Given the description of an element on the screen output the (x, y) to click on. 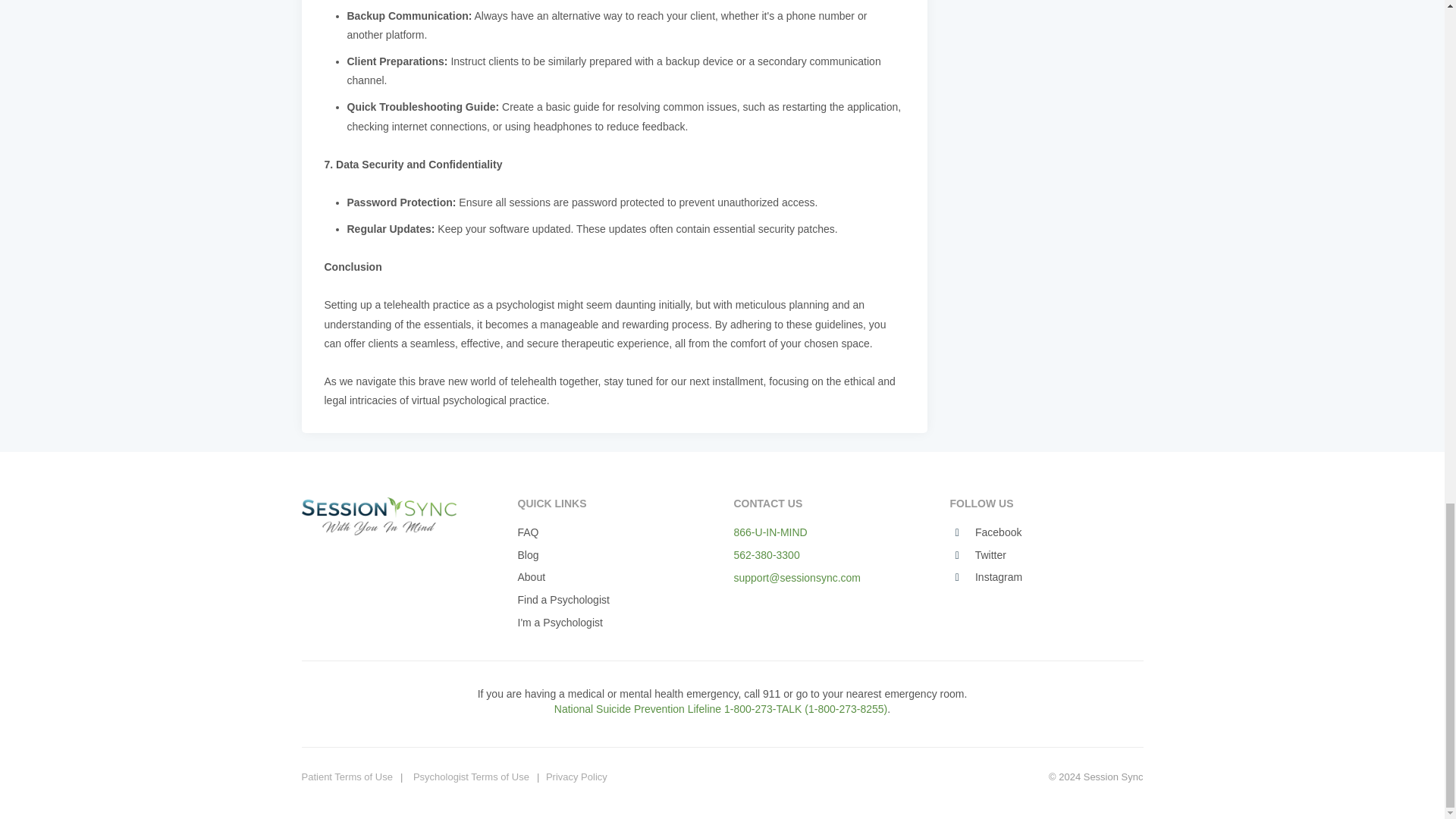
Patient Terms of Use (347, 776)
562-380-3300 (766, 554)
I'm a Psychologist (559, 622)
National Suicide Prevention Lifeline (760, 716)
About (530, 577)
Instagram (985, 577)
Twitter (977, 555)
Blog (527, 555)
Find a Psychologist (562, 600)
Facebook (985, 532)
866-U-IN-MIND (770, 532)
Privacy Policy (576, 776)
FAQ (527, 532)
Psychologist Terms of Use (471, 776)
